Given the description of an element on the screen output the (x, y) to click on. 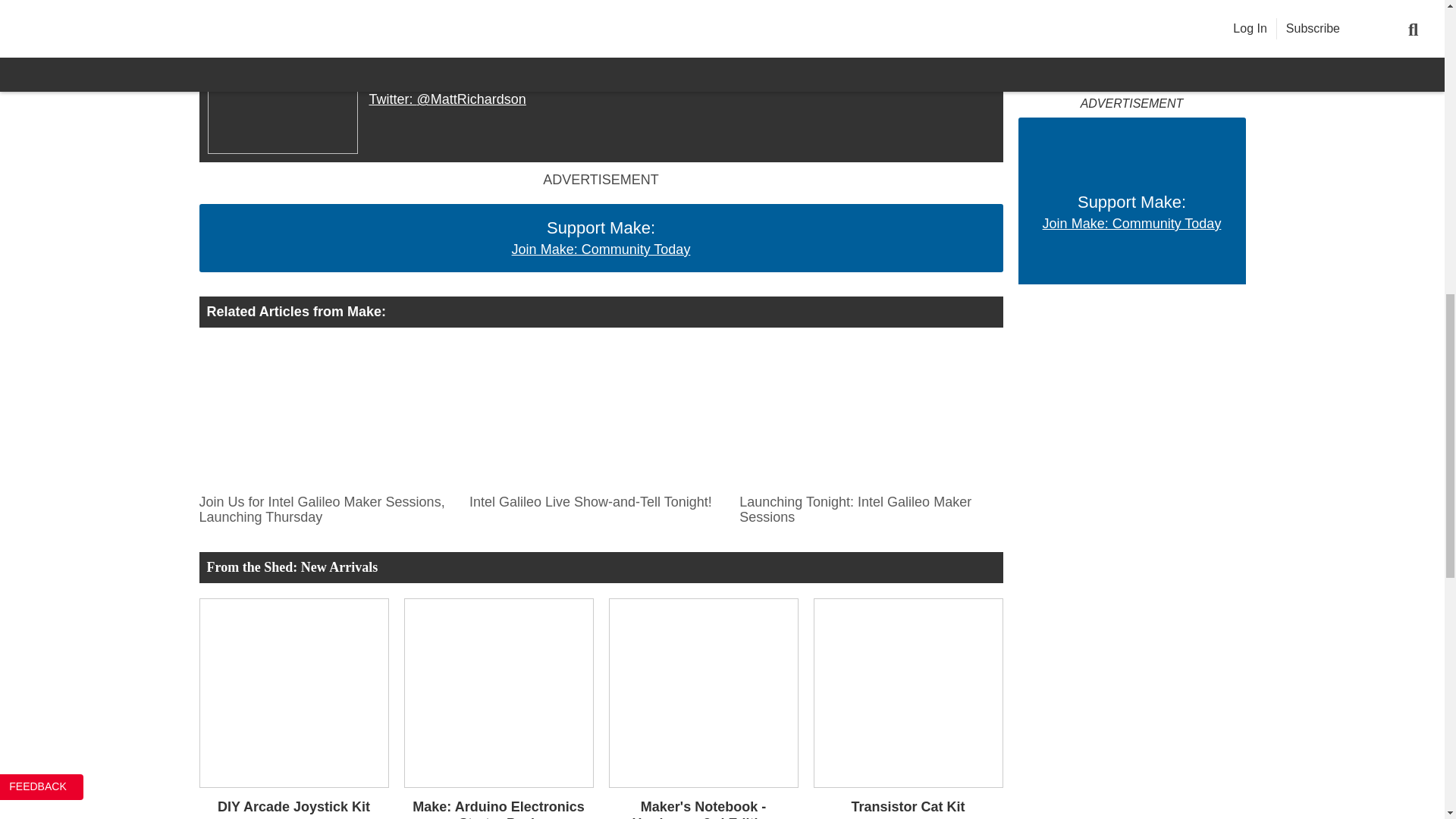
Launching Tonight: Intel Galileo Maker Sessions (866, 414)
Launching Tonight: Intel Galileo Maker Sessions (866, 506)
Join Us for Intel Galileo Maker Sessions, Launching Thursday (325, 506)
Intel Galileo Live Show-and-Tell Tonight! (595, 498)
Intel Galileo Live Show-and-Tell Tonight! (595, 414)
Join Us for Intel Galileo Maker Sessions, Launching Thursday (325, 414)
